Given the description of an element on the screen output the (x, y) to click on. 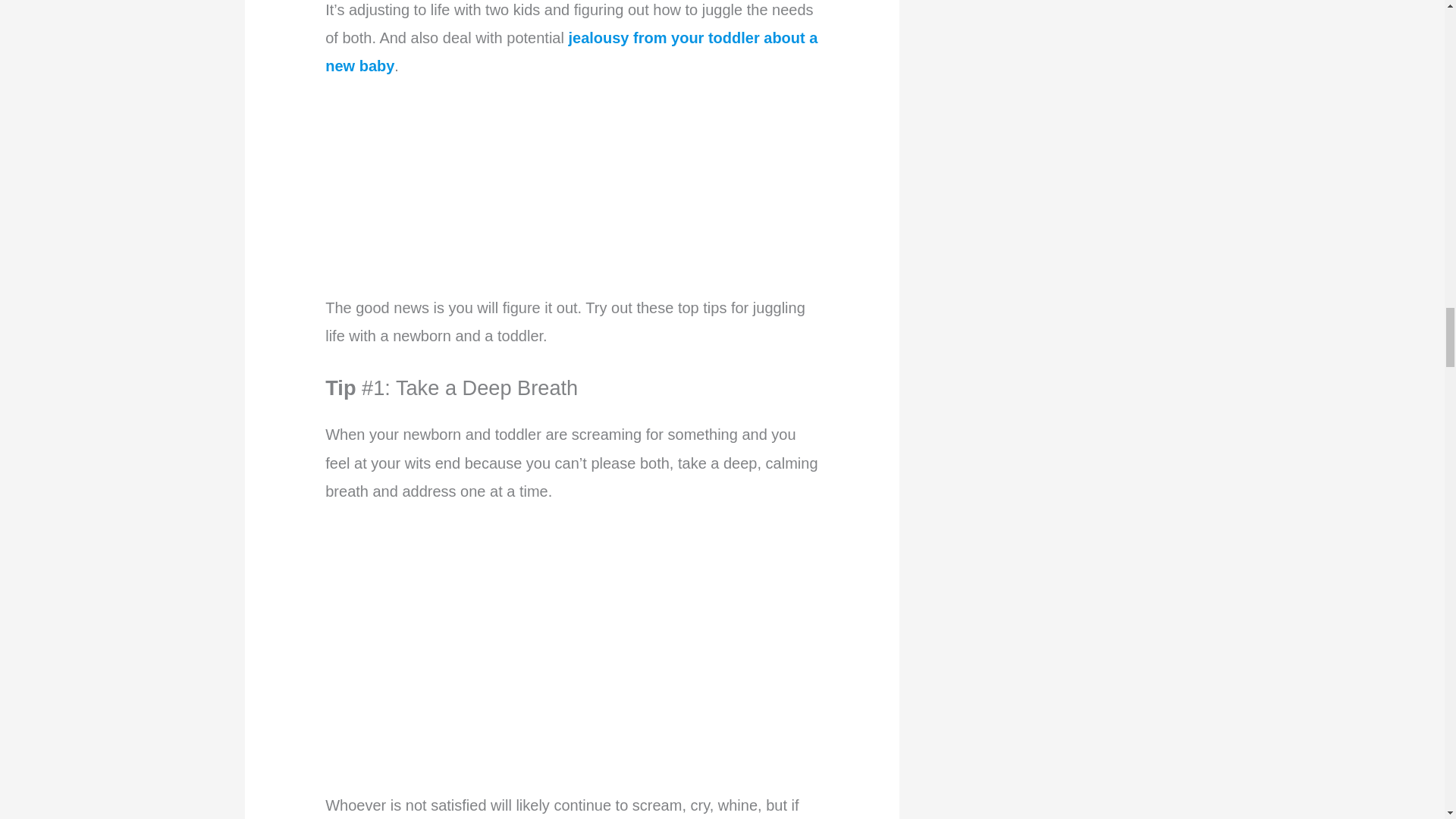
jealousy from your toddler about a new baby (570, 51)
